Given the description of an element on the screen output the (x, y) to click on. 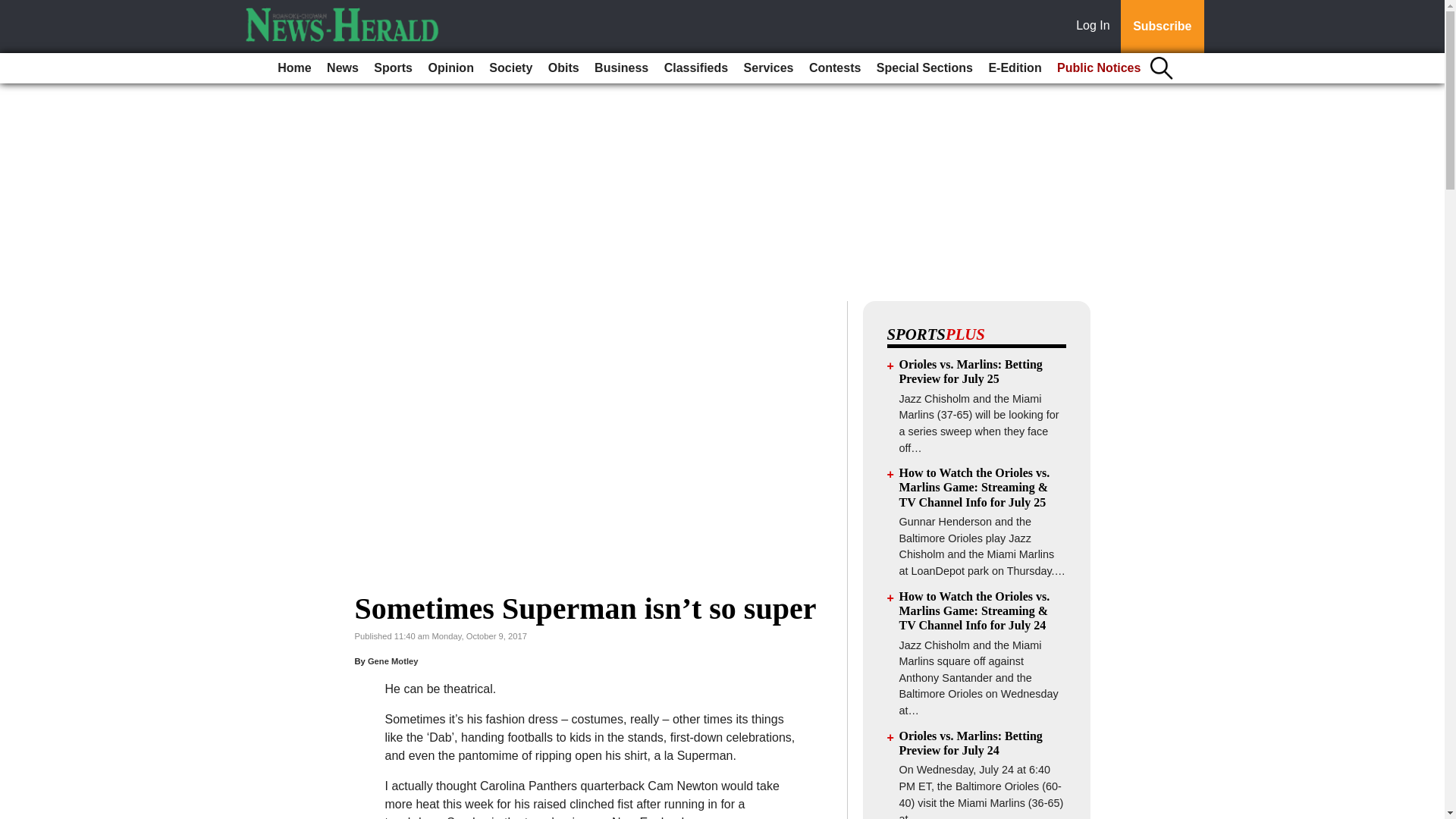
Contests (834, 68)
Subscribe (1162, 26)
News (342, 68)
Sports (393, 68)
Log In (1095, 26)
Public Notices (1099, 68)
Obits (563, 68)
Opinion (450, 68)
Services (768, 68)
Special Sections (924, 68)
Society (510, 68)
Classifieds (695, 68)
E-Edition (1013, 68)
Gene Motley (393, 660)
Business (620, 68)
